Given the description of an element on the screen output the (x, y) to click on. 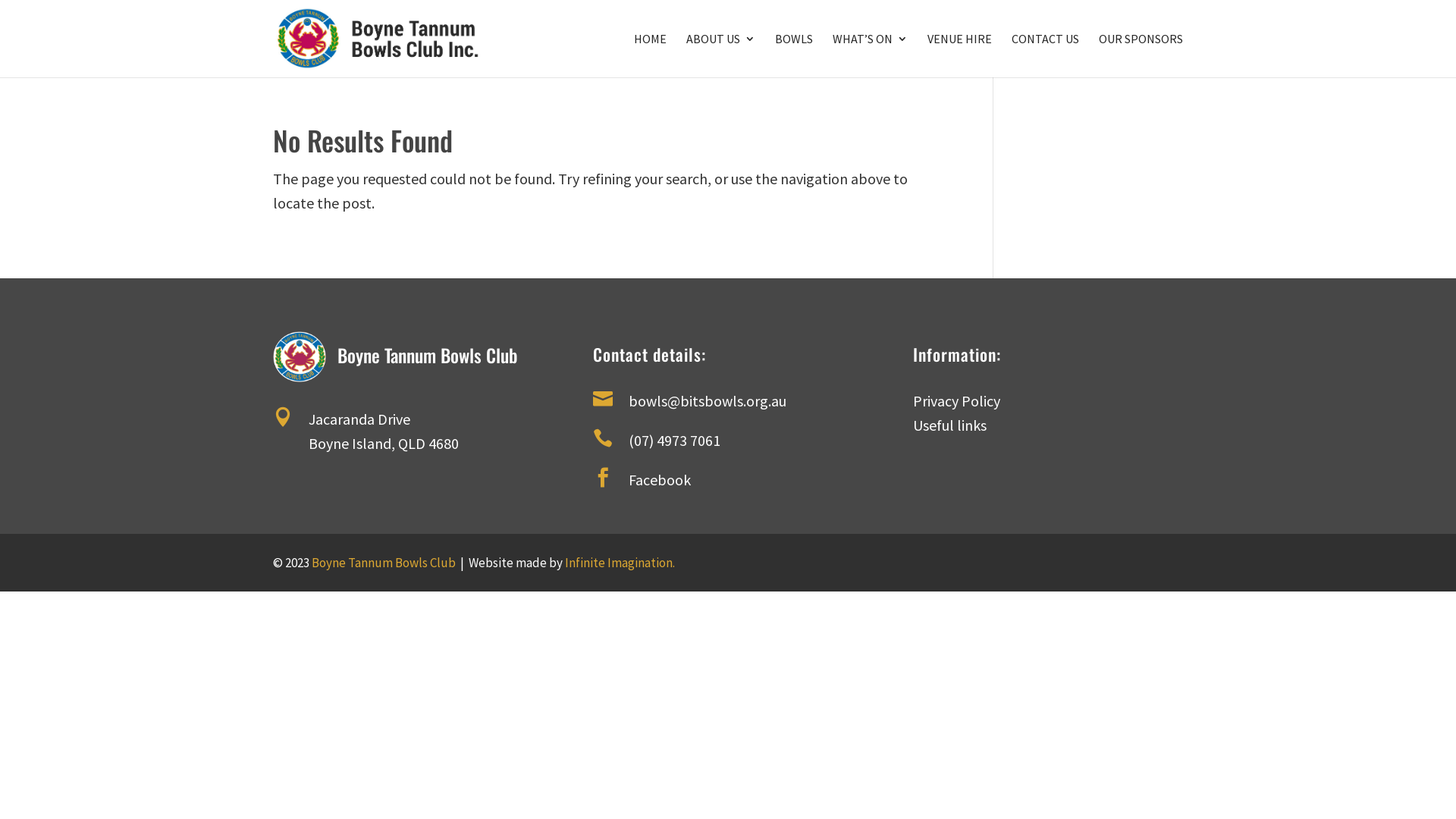
Infinite Imagination. Element type: text (619, 562)
OUR SPONSORS Element type: text (1140, 55)
Boyne Tannum Bowls Club Element type: text (383, 562)
Useful links Element type: text (949, 424)
BOWLS Element type: text (793, 55)
bowls@bitsbowls.org.au Element type: text (707, 400)
CONTACT US Element type: text (1045, 55)
ABOUT US Element type: text (720, 55)
VENUE HIRE Element type: text (959, 55)
HOME Element type: text (649, 55)
Privacy Policy Element type: text (956, 400)
